Given the description of an element on the screen output the (x, y) to click on. 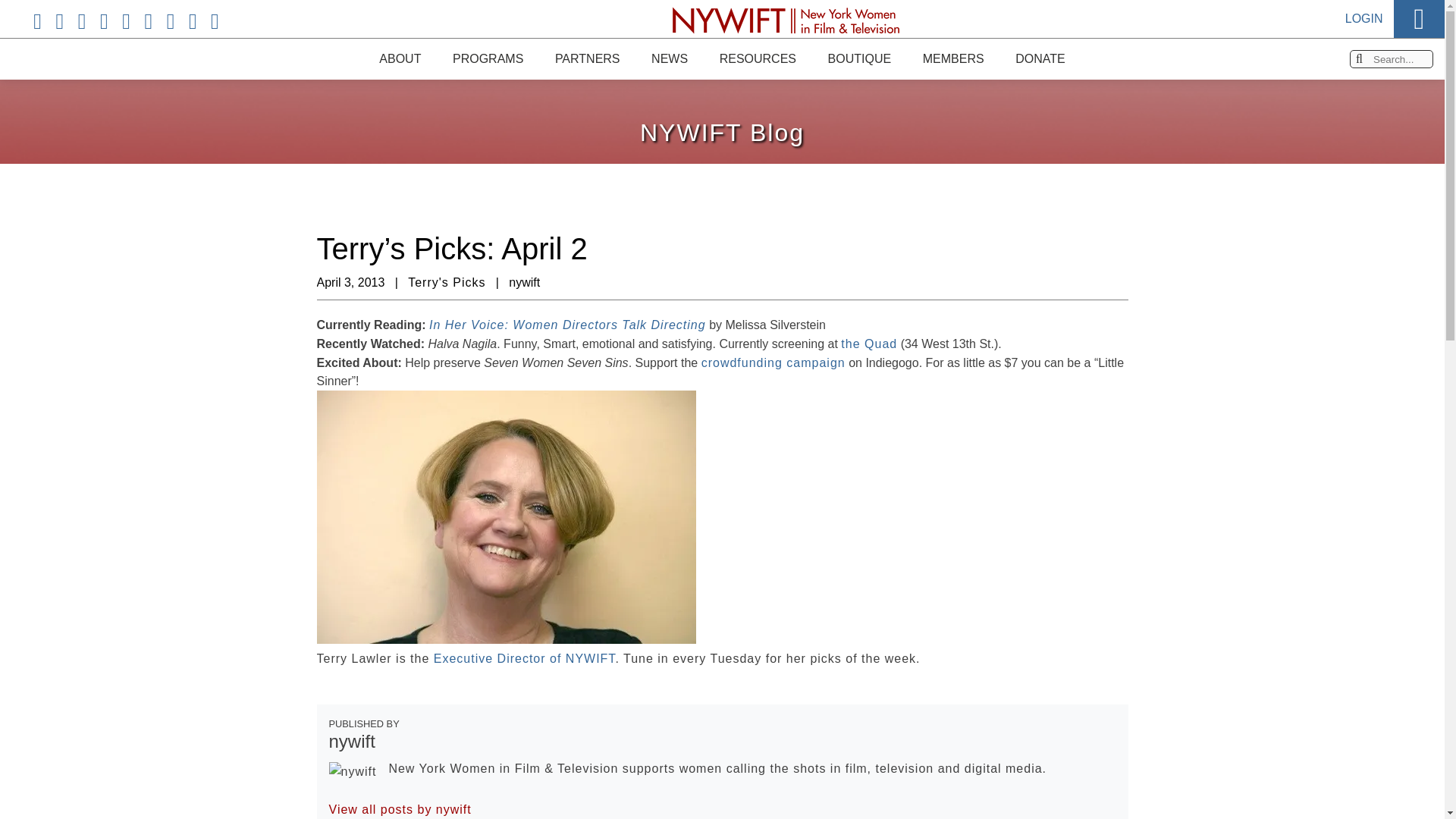
RESOURCES (757, 58)
NEWS (669, 58)
LOGIN (1364, 3)
PROGRAMS (488, 58)
ABOUT (399, 39)
PARTNERS (587, 58)
